Given the description of an element on the screen output the (x, y) to click on. 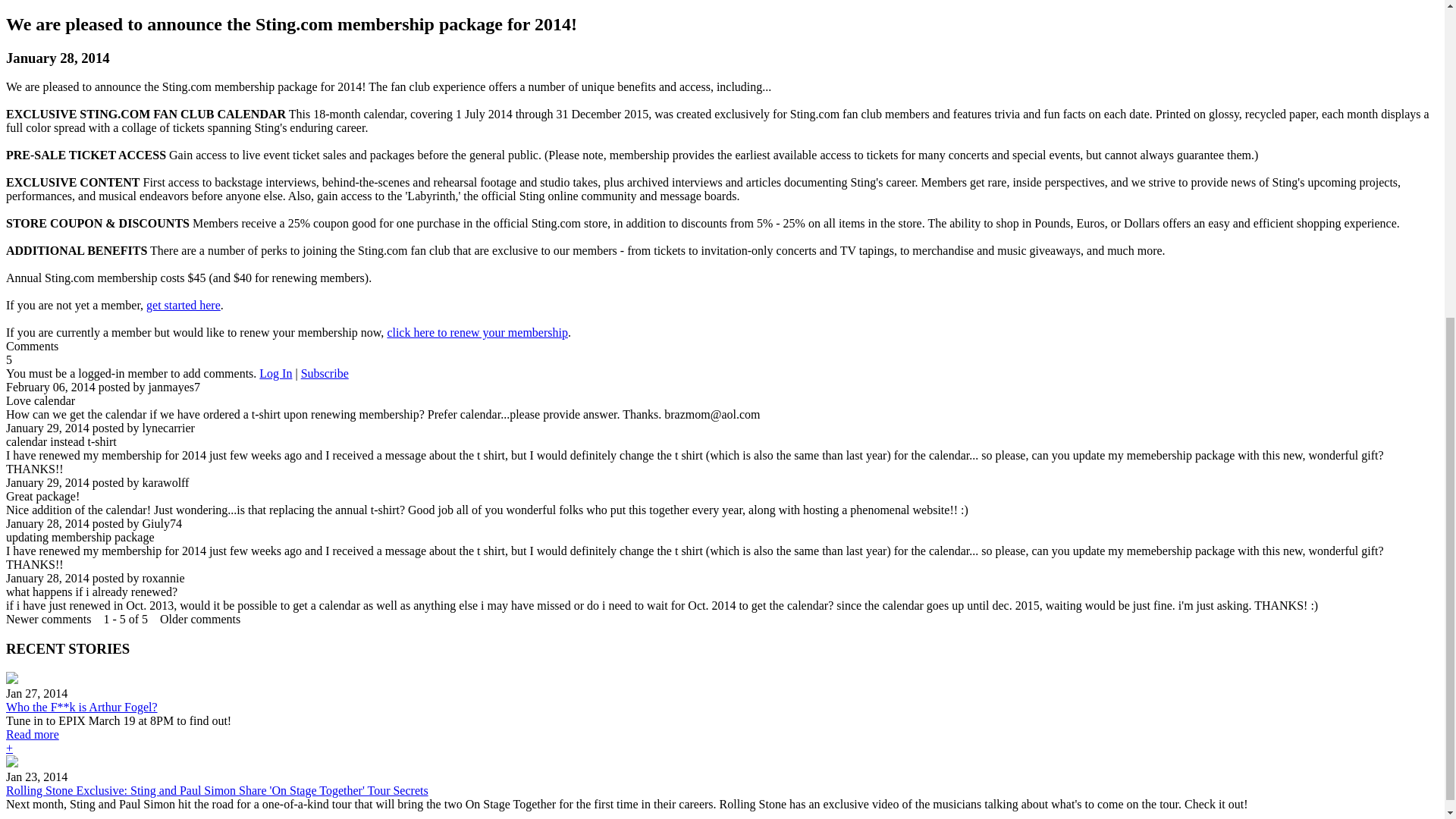
Login (275, 373)
get started here (184, 305)
Log In (275, 373)
Subscribe (325, 373)
click here to renew your membership (477, 332)
